Given the description of an element on the screen output the (x, y) to click on. 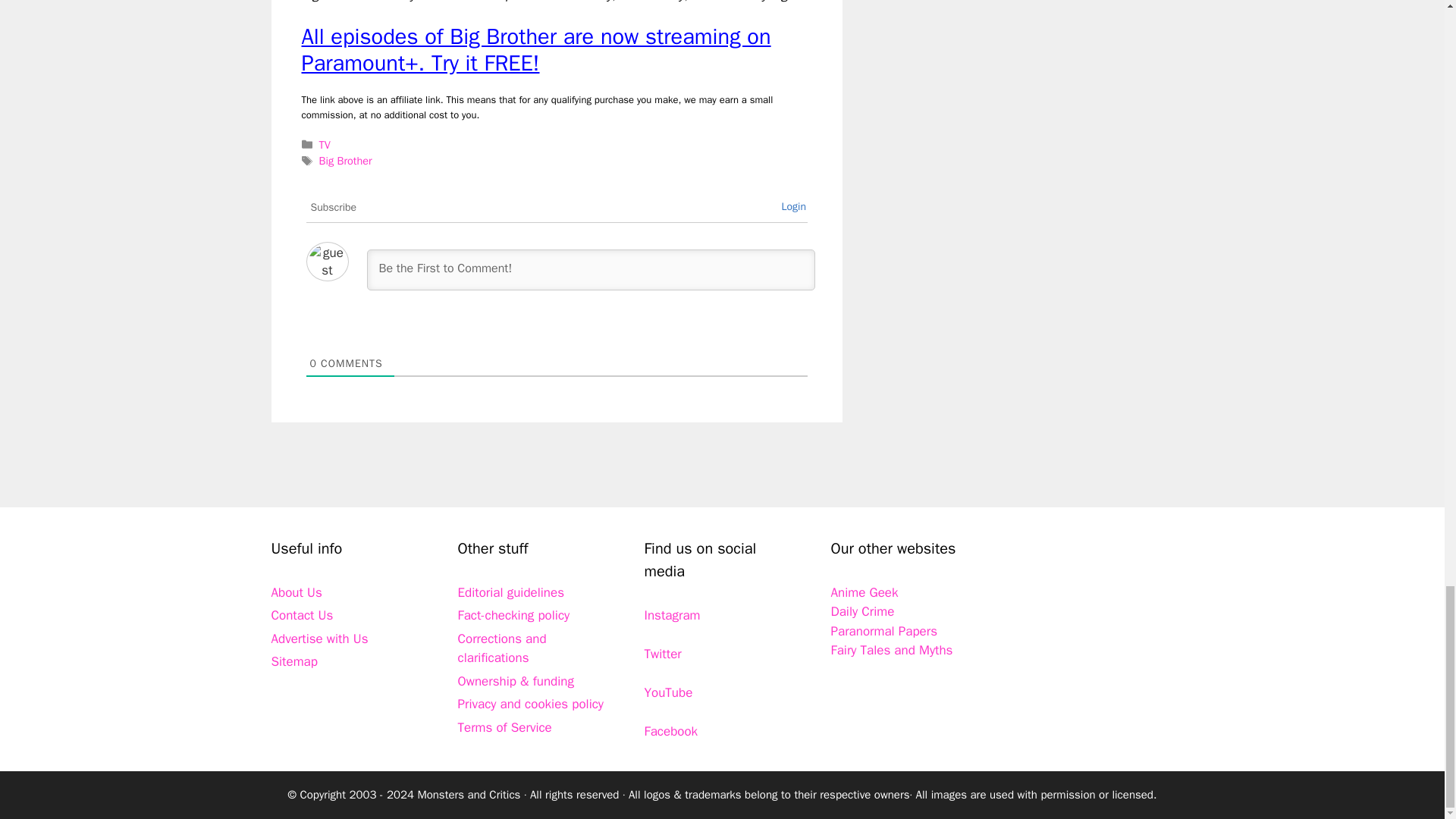
Privacy and cookies policy (531, 703)
Editorial guidelines (511, 592)
Advertise with Us (319, 638)
Login (793, 205)
Corrections and clarifications (502, 648)
Big Brother (345, 160)
Fact-checking policy (514, 615)
Sitemap (293, 661)
About Us (295, 592)
Contact Us (301, 615)
